Given the description of an element on the screen output the (x, y) to click on. 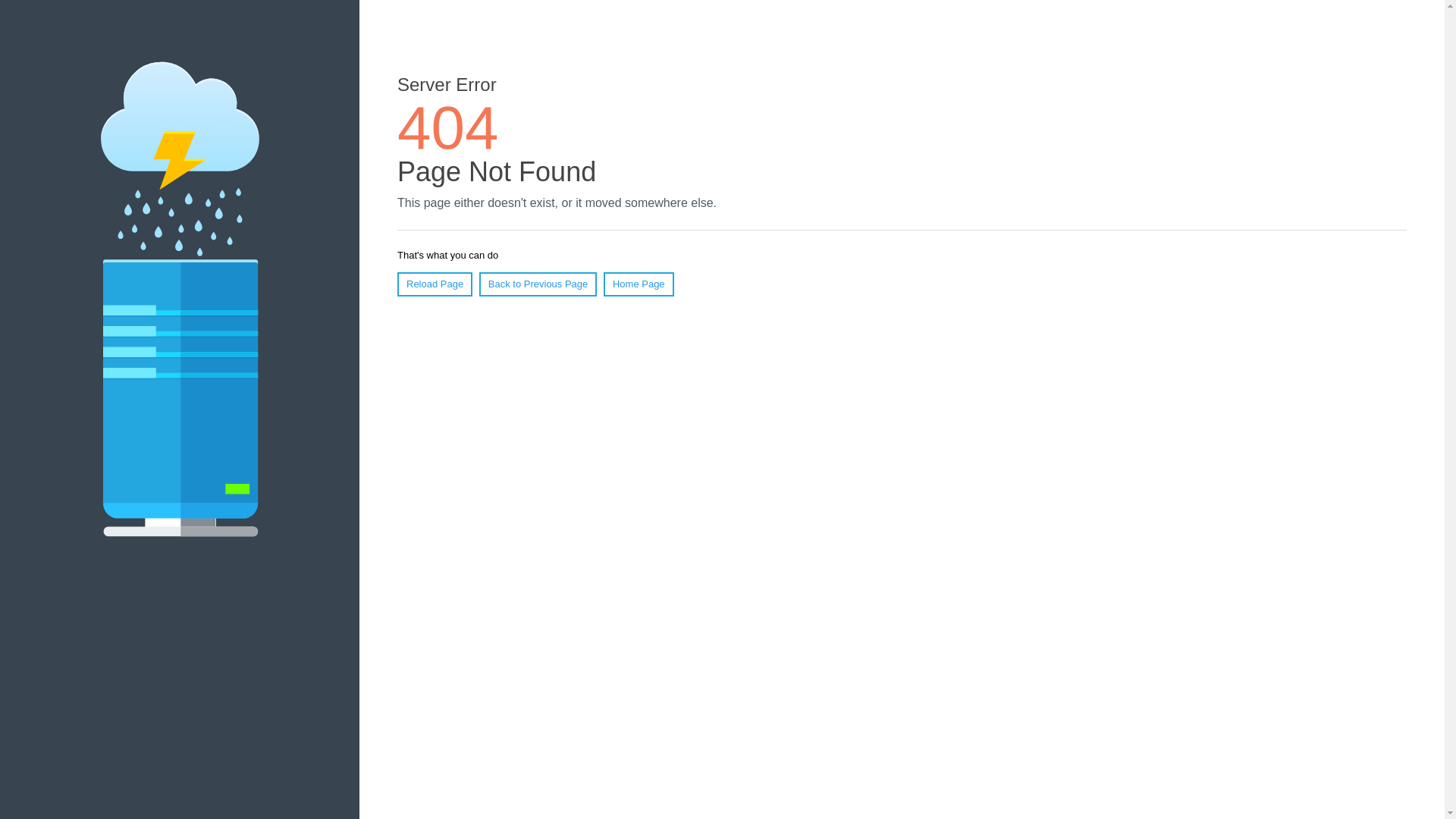
Reload Page Element type: text (434, 284)
Home Page Element type: text (638, 284)
Back to Previous Page Element type: text (538, 284)
